Given the description of an element on the screen output the (x, y) to click on. 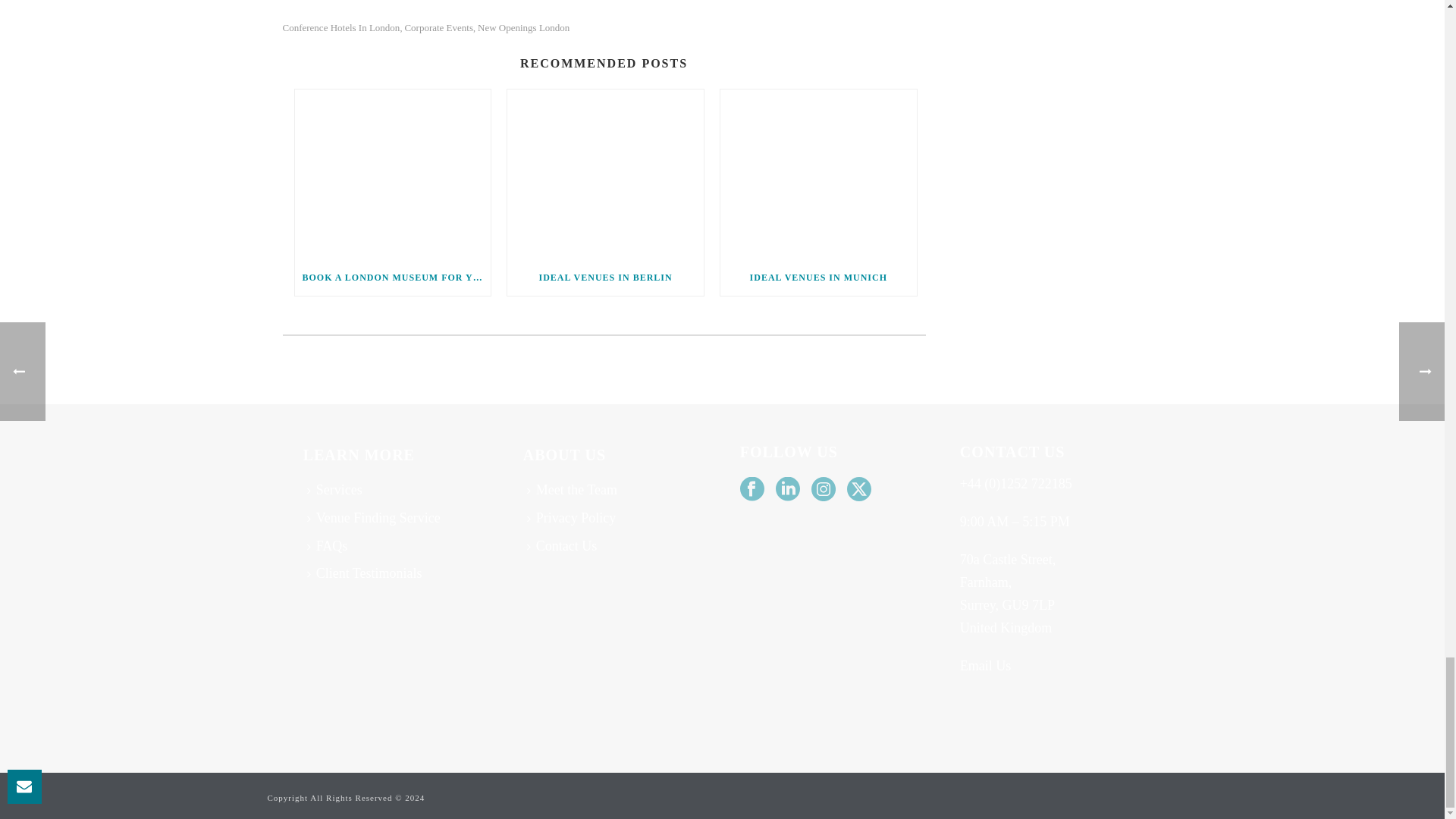
Ideal Venues in Munich (818, 174)
Ideal Venues in Berlin (604, 174)
Book a London Museum for your next event (392, 174)
Follow Us twitter (858, 489)
Follow Us linkedin (787, 489)
Follow Us instagram (822, 489)
Follow Us facebook (751, 489)
